Given the description of an element on the screen output the (x, y) to click on. 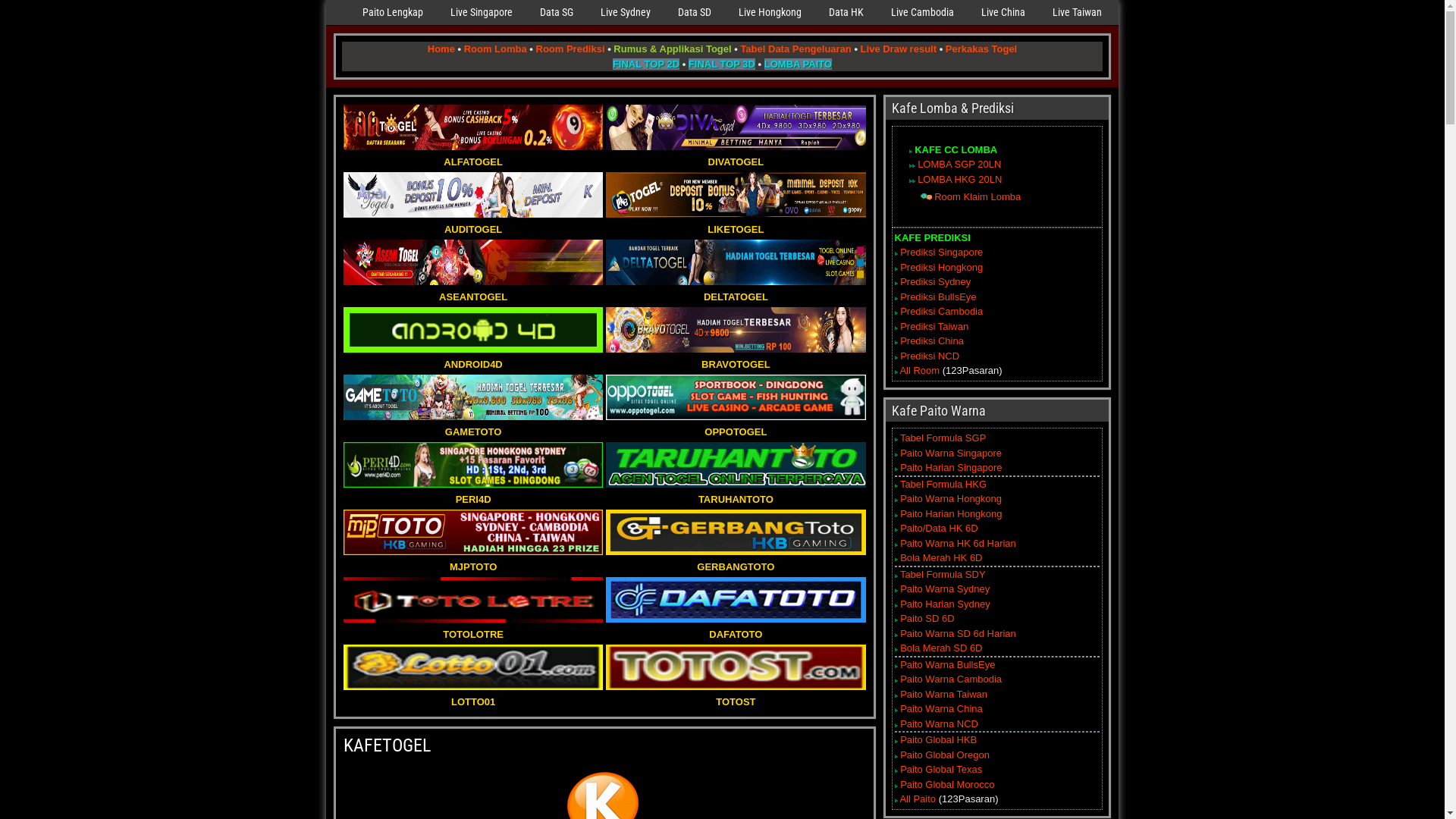
Live China Element type: text (1002, 12)
LOMBA HKG 20LN Element type: text (959, 179)
Prediksi Singapore Element type: text (941, 251)
Paito Global Morocco Element type: text (947, 784)
DIVATOGEL Element type: text (735, 154)
Paito Harian Singapore Element type: text (950, 467)
Paito Warna NCD Element type: text (939, 723)
Paito Global HKB Element type: text (938, 739)
Room Prediksi Element type: text (569, 48)
Tabel Formula HKG Element type: text (943, 483)
Bandar Judi Online Terpercaya DELTATOGEL Element type: hover (735, 262)
Bola Merah SD 6D Element type: text (941, 647)
Bandar Judi Online Terpercaya DIVATOGEL Element type: hover (735, 127)
Paito Warna HK 6d Harian Element type: text (958, 543)
Tabel Formula SGP Element type: text (942, 437)
Data SG Element type: text (556, 12)
FINAL TOP 2D Element type: text (645, 63)
Paito Lengkap Element type: text (392, 12)
panah Element type: hover (912, 180)
Prediksi Sydney Element type: text (935, 281)
Paito Harian Hongkong Element type: text (950, 513)
Bandar Judi Online Terpercaya taruhantoto Element type: hover (735, 464)
Bandar Judi Online Terpercaya lotto01 Element type: hover (472, 667)
FINAL TOP 3D Element type: text (721, 63)
Bandar Judi Online Terpercaya LIKETOGEL Element type: hover (735, 194)
Bandar Judi Online Terpercaya GerbangTOTO Element type: hover (735, 532)
Paito Warna BullsEye Element type: text (947, 664)
LOTTO01 Element type: text (472, 693)
Tabel Data Pengeluaran Element type: text (795, 48)
Bandar Judi Online Terpercaya bravotogel Element type: hover (735, 329)
All Paito Element type: text (917, 798)
Paito Warna Sydney Element type: text (944, 588)
Prediksi Taiwan Element type: text (934, 326)
Bola Merah HK 6D Element type: text (941, 557)
Paito Warna China Element type: text (941, 708)
LOMBA SGP 20LN Element type: text (959, 163)
Live Taiwan Element type: text (1076, 12)
LOMBA PAITO Element type: text (797, 63)
Tabel Formula SDY Element type: text (942, 574)
KAFETOGEL Element type: text (386, 745)
Perkakas Togel Element type: text (980, 48)
Paito/Data HK 6D Element type: text (939, 527)
panah Element type: hover (909, 151)
Prediksi NCD Element type: text (929, 355)
Bandar Judi Online Terpercaya ASEANTOGEL Element type: hover (472, 262)
Paito SD 6D Element type: text (927, 618)
Live Sydney Element type: text (625, 12)
GERBANGTOTO Element type: text (735, 559)
All Room Element type: text (919, 370)
Data HK Element type: text (846, 12)
Room Lomba Element type: text (495, 48)
Paito Warna SD 6d Harian Element type: text (958, 633)
TOTOLOTRE Element type: text (472, 626)
TARUHANTOTO Element type: text (735, 491)
GAMETOTO Element type: text (472, 424)
ANDROID4D Element type: text (472, 356)
Prediksi Hongkong Element type: text (941, 267)
Prediksi BullsEye Element type: text (937, 296)
Paito Warna Cambodia Element type: text (950, 678)
Live Hongkong Element type: text (769, 12)
Data SD Element type: text (694, 12)
Live Singapore Element type: text (481, 12)
LIKETOGEL Element type: text (735, 221)
AUDITOGEL Element type: text (472, 221)
ALFATOGEL Element type: text (472, 154)
Bandar Judi Online Terpercaya dafaTOTO Element type: hover (735, 599)
Paito Harian Sydney Element type: text (945, 603)
panah Element type: hover (925, 196)
Paito Warna Hongkong Element type: text (950, 498)
PERI4D Element type: text (472, 491)
Bandar Judi Online Terpercaya AUDITOGEL Element type: hover (472, 194)
Bandar Judi Online Terpercaya oppotogel Element type: hover (735, 397)
DAFATOTO Element type: text (735, 626)
Prediksi China Element type: text (931, 340)
Room Klaim Lomba Element type: text (977, 196)
BRAVOTOGEL Element type: text (735, 356)
Paito Global Texas Element type: text (941, 769)
Paito Warna Singapore Element type: text (950, 452)
Bandar Judi Online Terpercaya ALFATOGEL Element type: hover (472, 127)
Paito Global Oregon Element type: text (944, 754)
Live Cambodia Element type: text (922, 12)
Bandar Judi Online Terpercaya peri4d Element type: hover (472, 464)
TOTOST Element type: text (735, 693)
Home Element type: text (441, 48)
ASEANTOGEL Element type: text (472, 289)
panah Element type: hover (909, 180)
Bandar Judi Online Terpercaya gametoto Element type: hover (472, 397)
Paito Warna Taiwan Element type: text (943, 693)
DELTATOGEL Element type: text (735, 289)
panah Element type: hover (909, 165)
Bandar Judi Online Terpercaya totost Element type: hover (735, 667)
Live Draw result Element type: text (898, 48)
Bandar Judi Online Terpercaya TOTOLOTRE Element type: hover (472, 599)
MJPTOTO Element type: text (472, 559)
Rumus & Applikasi Togel Element type: text (672, 48)
panah Element type: hover (912, 165)
Bandar Judi Online Terpercaya android4d Element type: hover (472, 329)
OPPOTOGEL Element type: text (735, 424)
Prediksi Cambodia Element type: text (941, 310)
Bandar Judi Online Terpercaya MjpTOTO Element type: hover (472, 532)
